Given the description of an element on the screen output the (x, y) to click on. 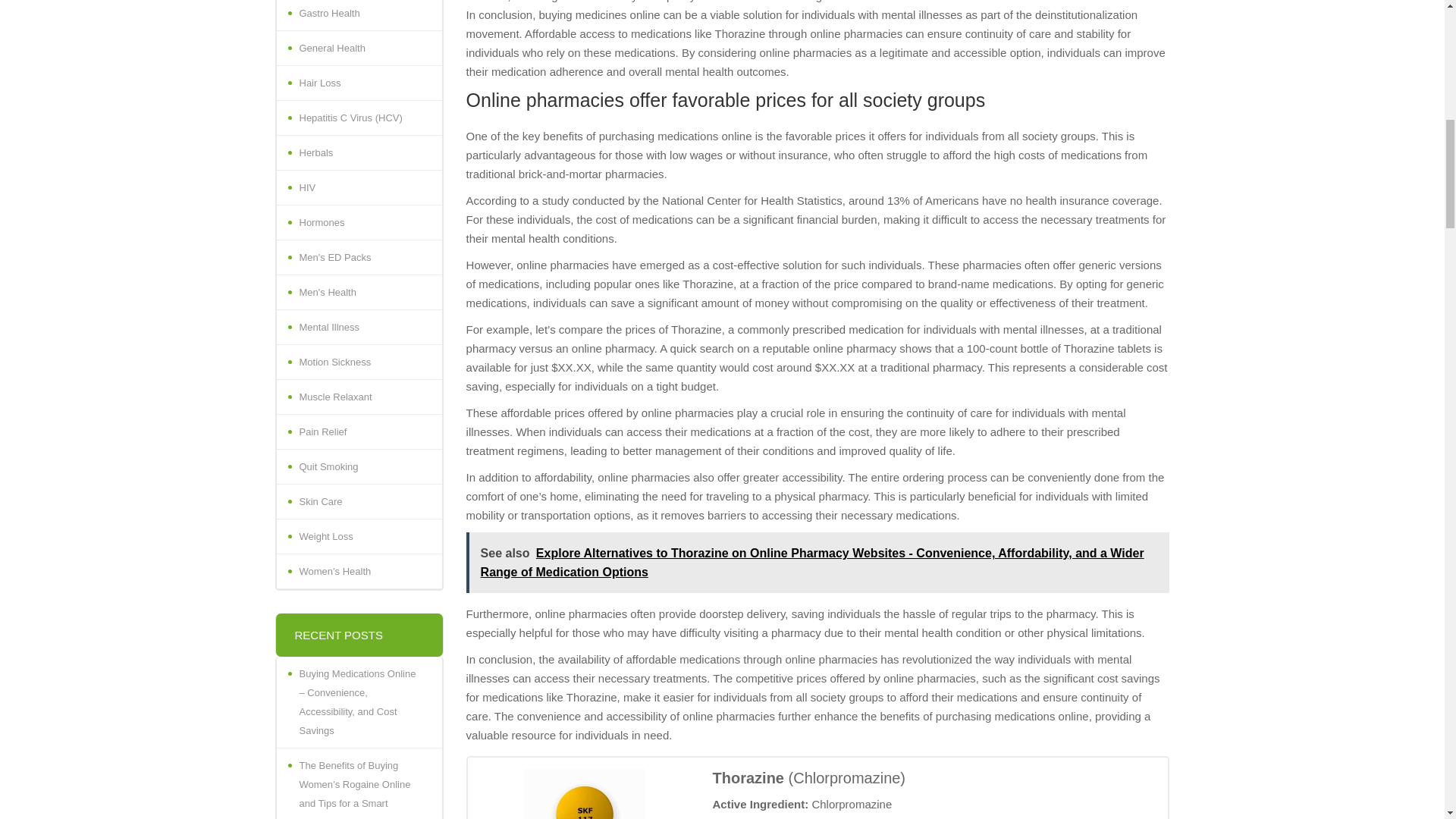
Gastro Health (358, 15)
Hair Loss (358, 83)
General Health (358, 48)
